Given the description of an element on the screen output the (x, y) to click on. 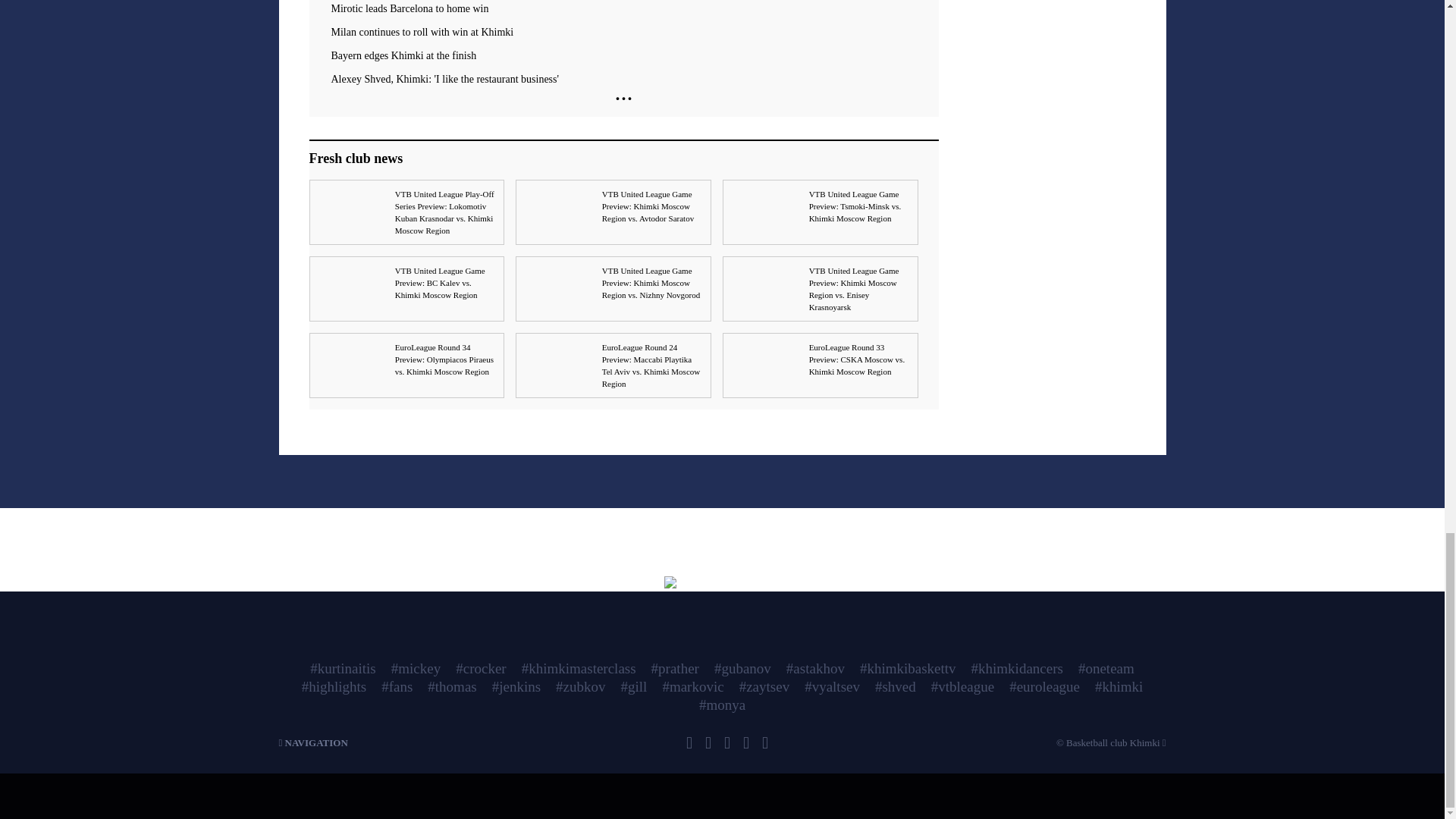
Mirotic leads Barcelona to home win (622, 9)
Alexey Shved, Khimki: 'I like the restaurant business' (622, 79)
Bayern edges Khimki at the finish (622, 55)
Milan continues to roll with win at Khimki (622, 32)
